Given the description of an element on the screen output the (x, y) to click on. 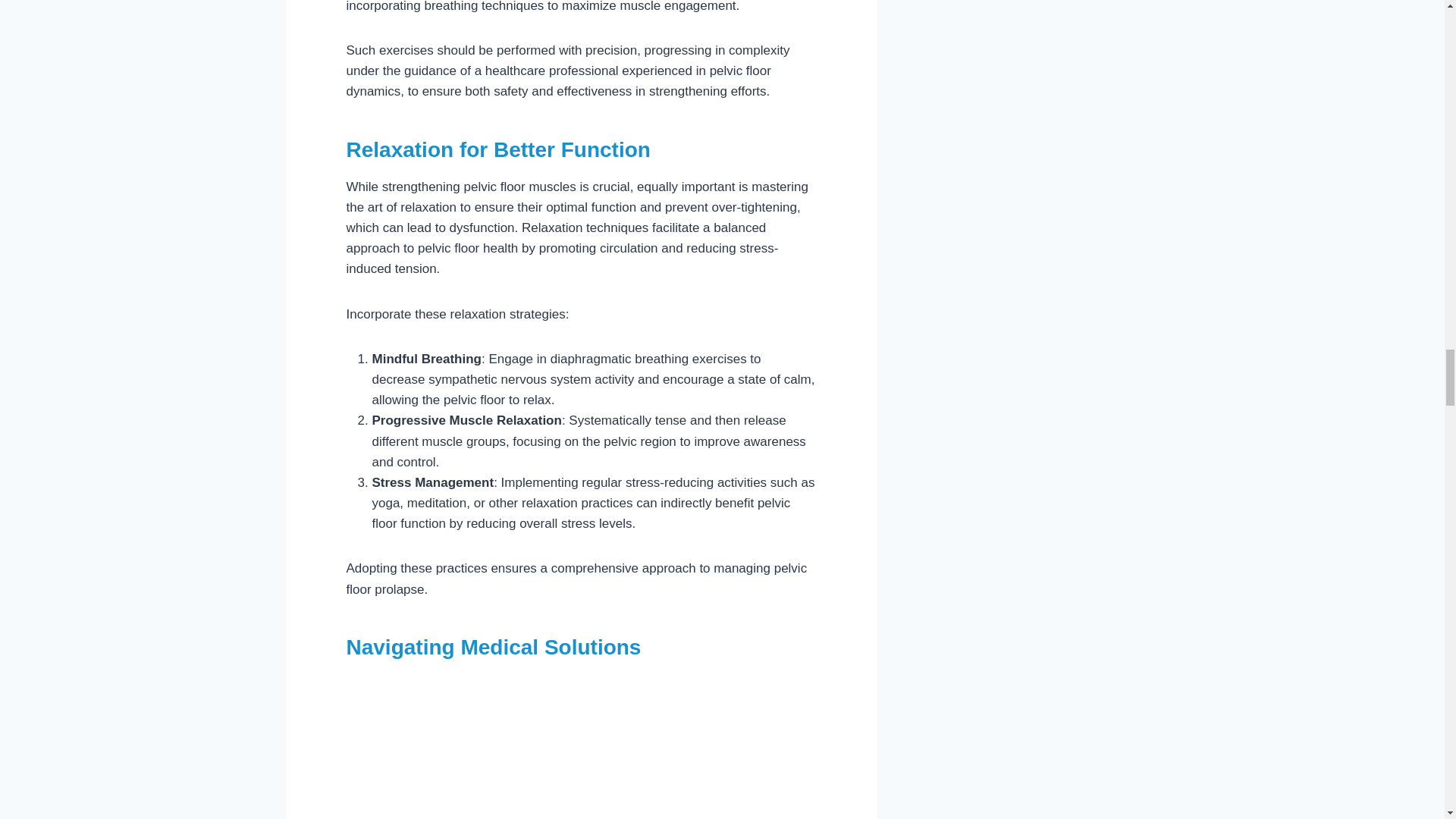
YouTube video player (535, 746)
